Given the description of an element on the screen output the (x, y) to click on. 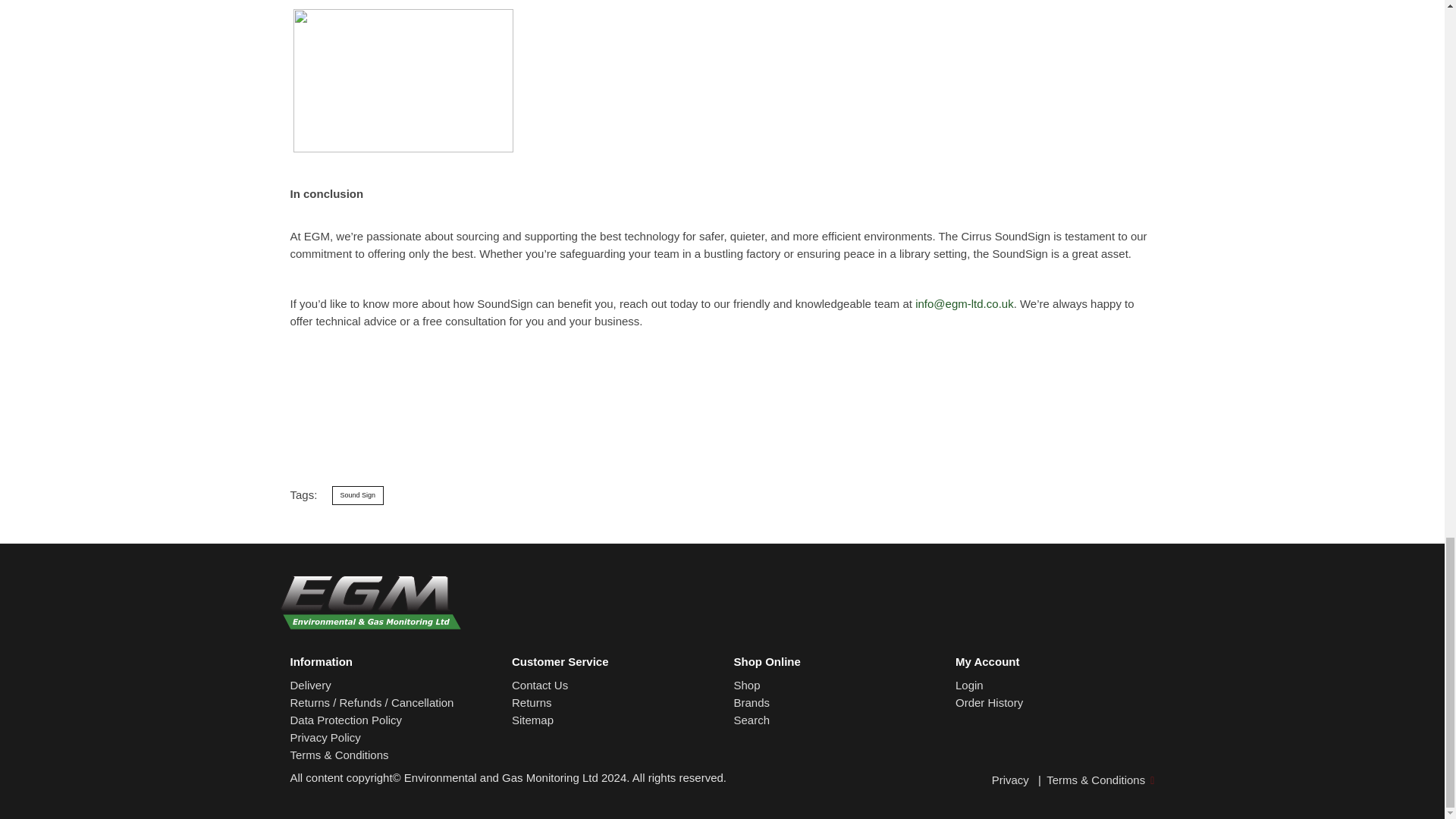
Privacy Policy (324, 737)
Browse all products by Brand (751, 702)
Sound Sign (357, 496)
Quickly find the product you are looking for (751, 719)
Delivery (309, 684)
Data Protection Policy (345, 719)
Sound Sign (357, 496)
